Given the description of an element on the screen output the (x, y) to click on. 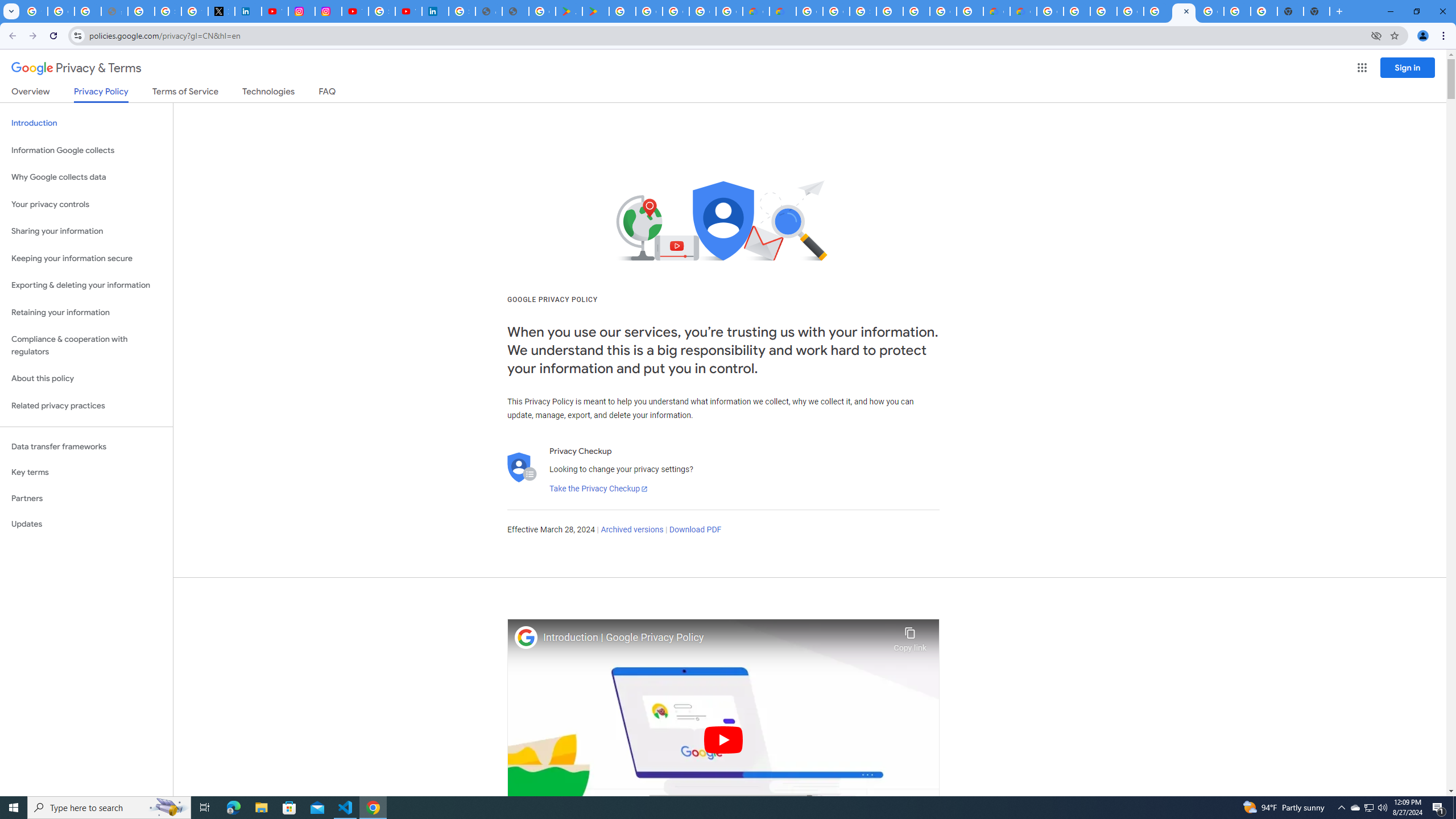
Archived versions (631, 529)
Terms of Service (184, 93)
Android Apps on Google Play (569, 11)
Partners (86, 497)
Introduction (86, 122)
Sign in - Google Accounts (462, 11)
Sign in - Google Accounts (167, 11)
Your privacy controls (86, 204)
Exporting & deleting your information (86, 284)
